Given the description of an element on the screen output the (x, y) to click on. 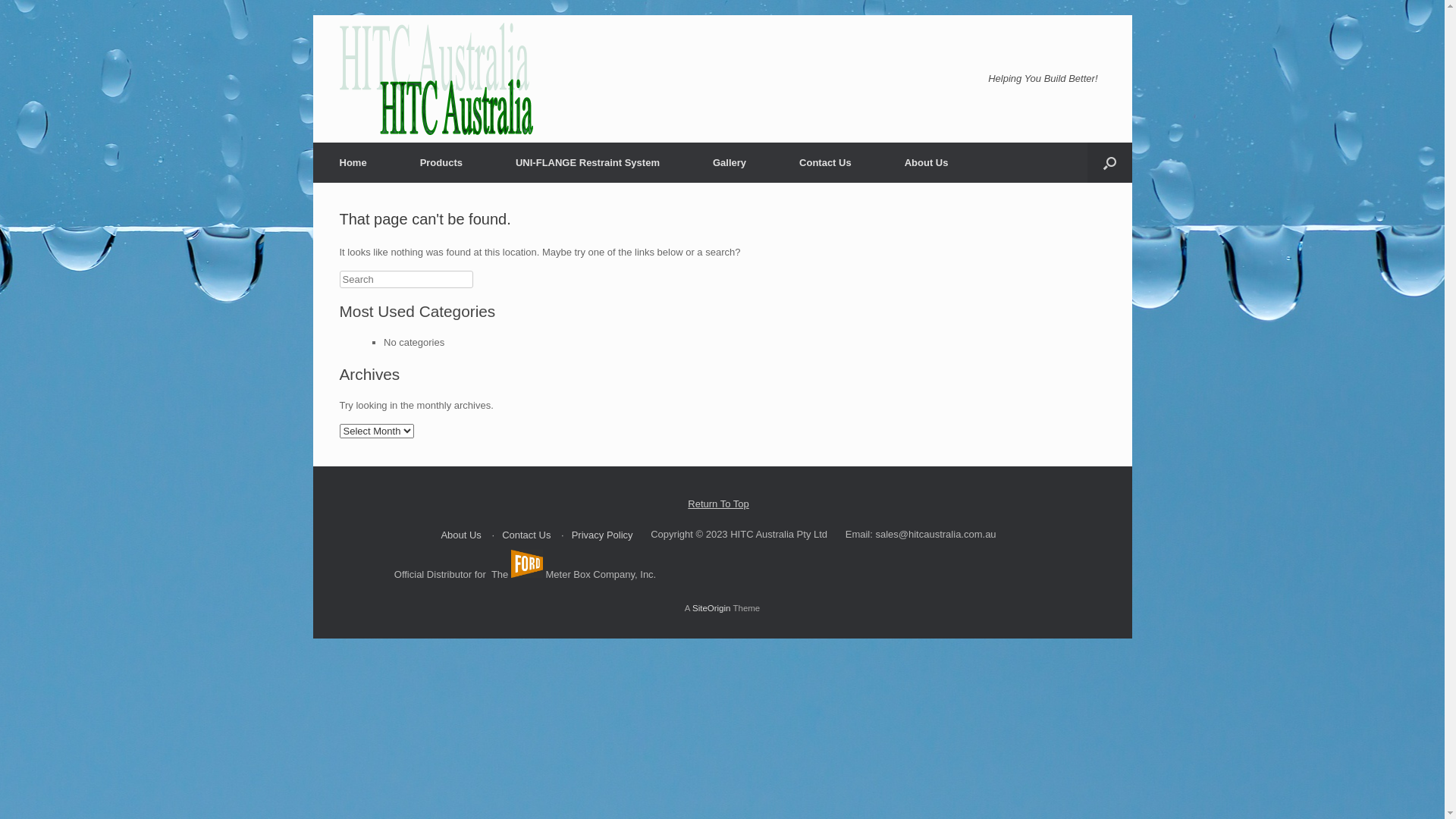
Contact Us Element type: text (825, 162)
About Us Element type: text (460, 534)
Privacy Policy Element type: text (602, 534)
UNI-FLANGE Restraint System Element type: text (587, 162)
About Us Element type: text (926, 162)
Home Element type: text (352, 162)
Products Element type: text (441, 162)
Email: sales@hitcaustralia.com.au Element type: text (920, 533)
SiteOrigin Element type: text (711, 607)
HITC Australia Pty Ltd Element type: hover (436, 78)
Return To Top Element type: text (717, 503)
Gallery Element type: text (729, 162)
Contact Us Element type: text (526, 534)
